Given the description of an element on the screen output the (x, y) to click on. 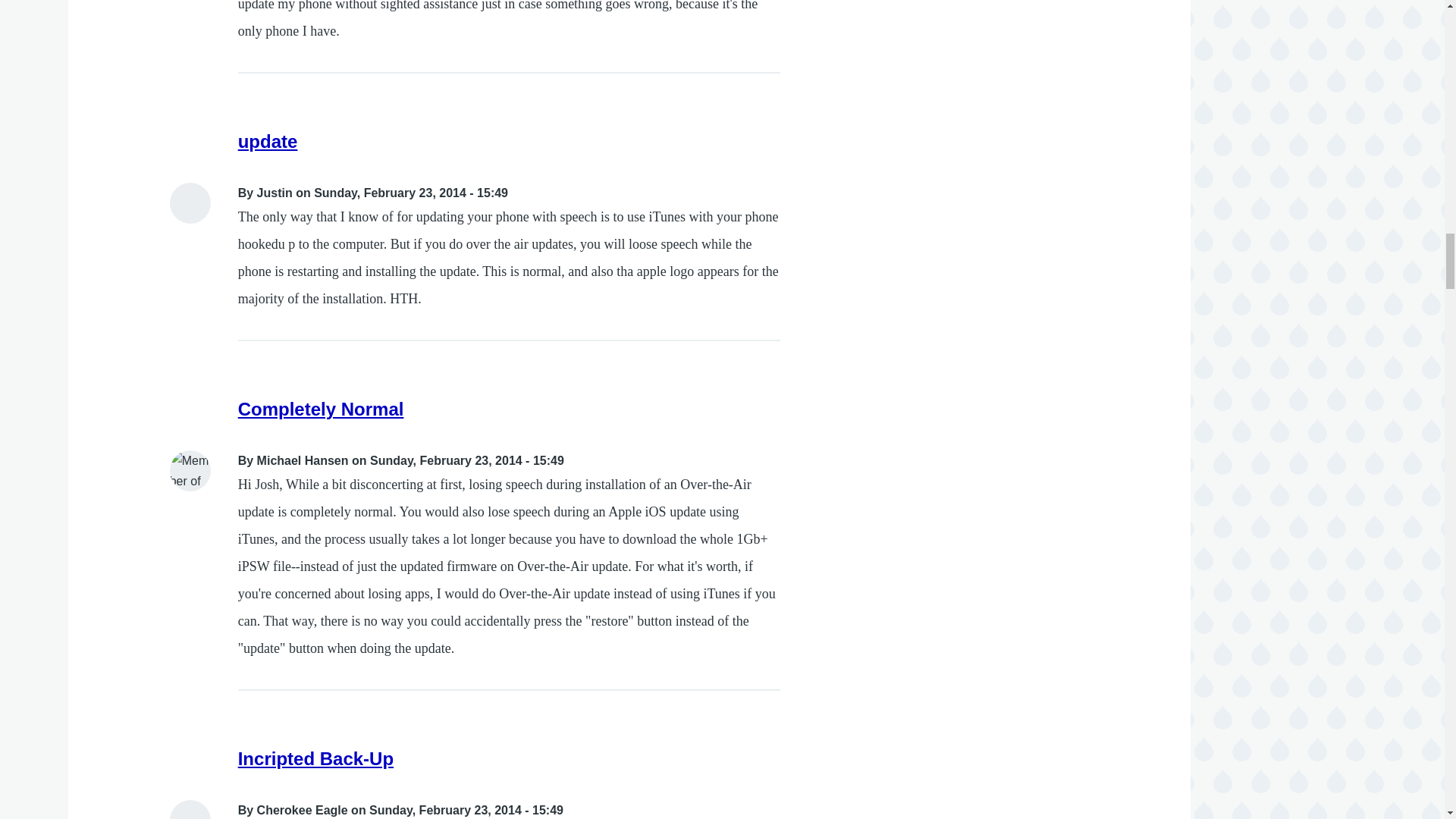
update (268, 141)
Completely Normal (321, 408)
Incripted Back-Up (315, 758)
